Given the description of an element on the screen output the (x, y) to click on. 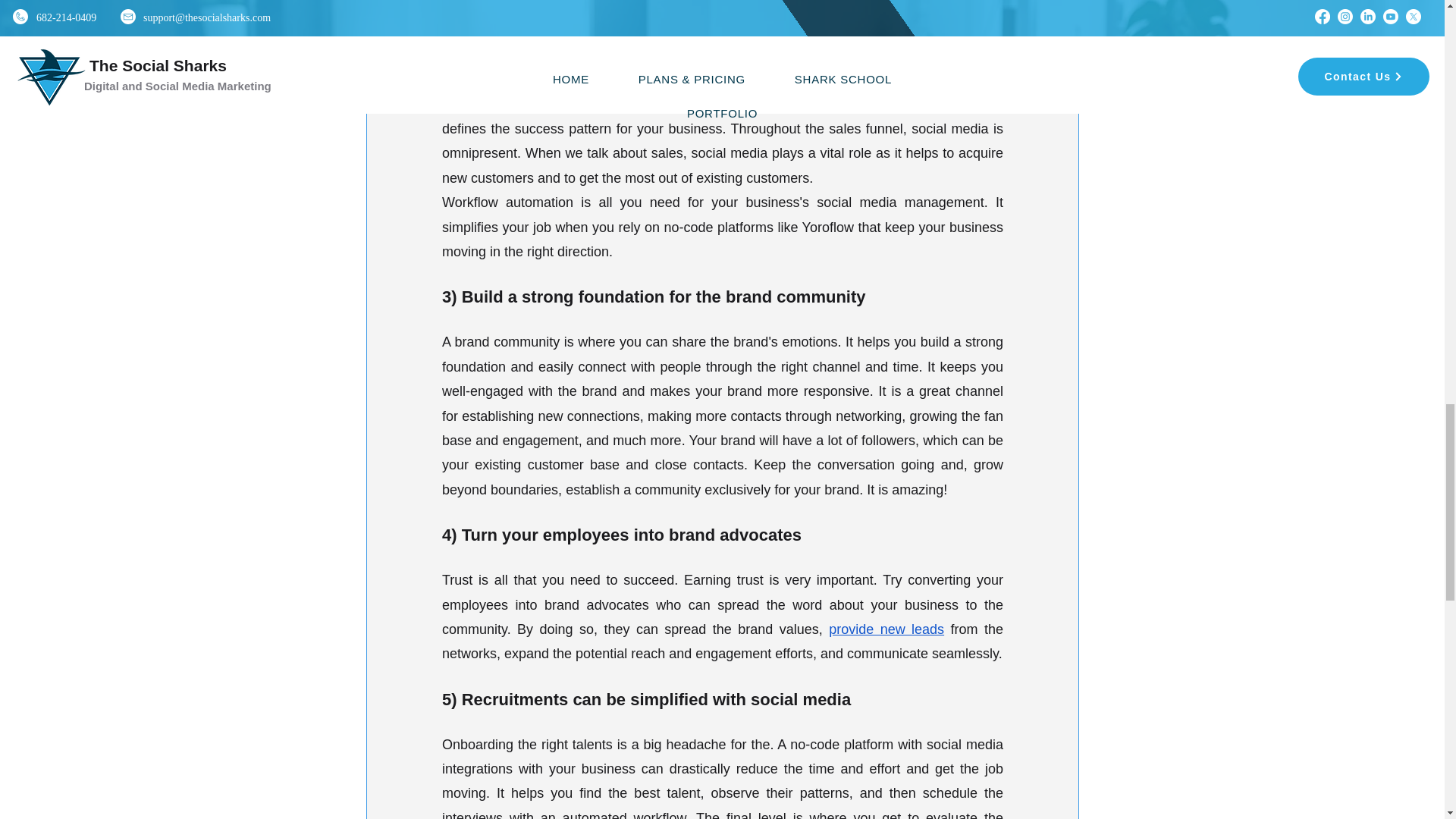
provide new leads (885, 629)
